Given the description of an element on the screen output the (x, y) to click on. 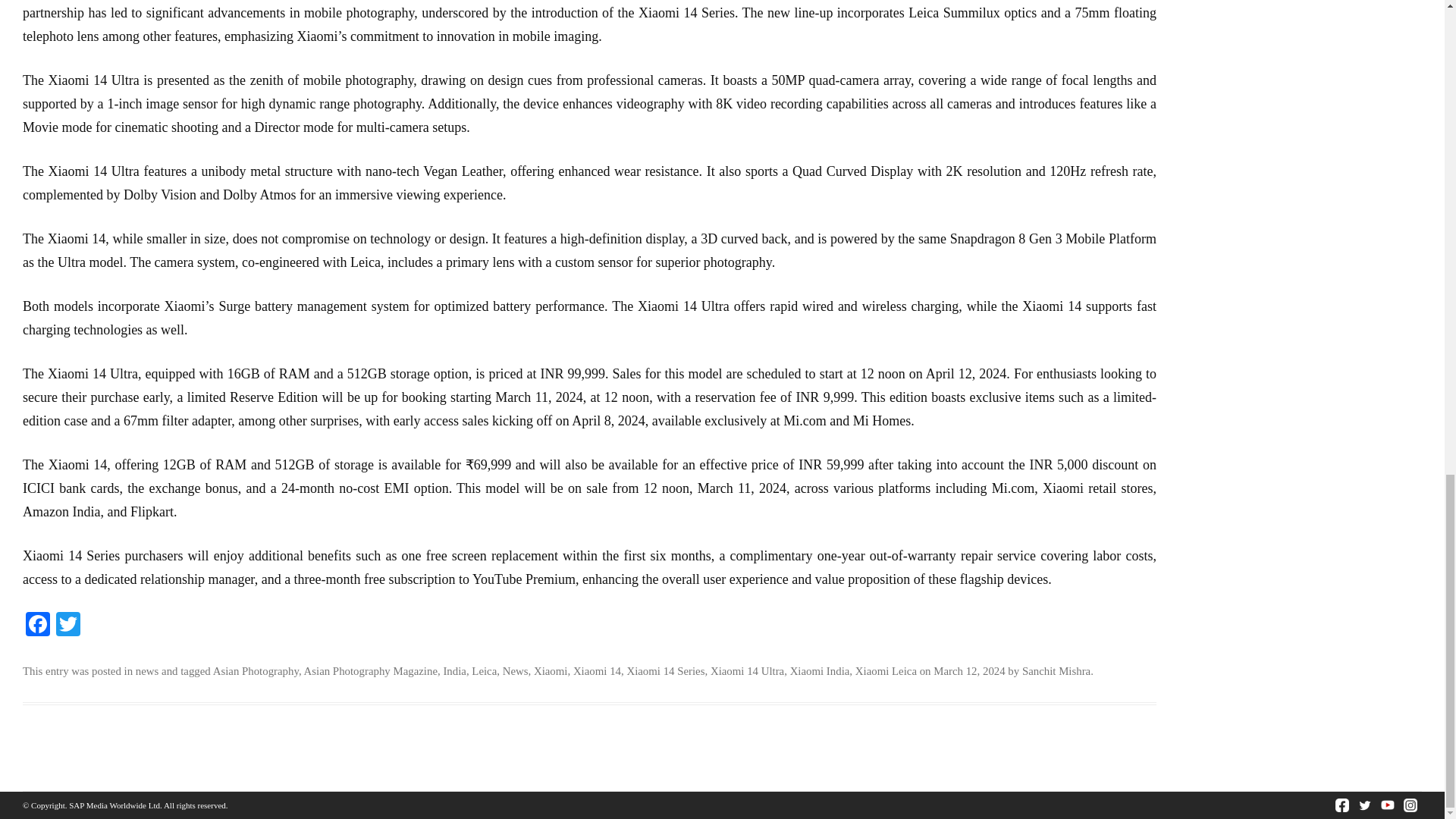
Facebook (37, 625)
11:22 am (968, 671)
Twitter (67, 625)
View all posts by Sanchit Mishra (1056, 671)
Facebook (37, 625)
